Given the description of an element on the screen output the (x, y) to click on. 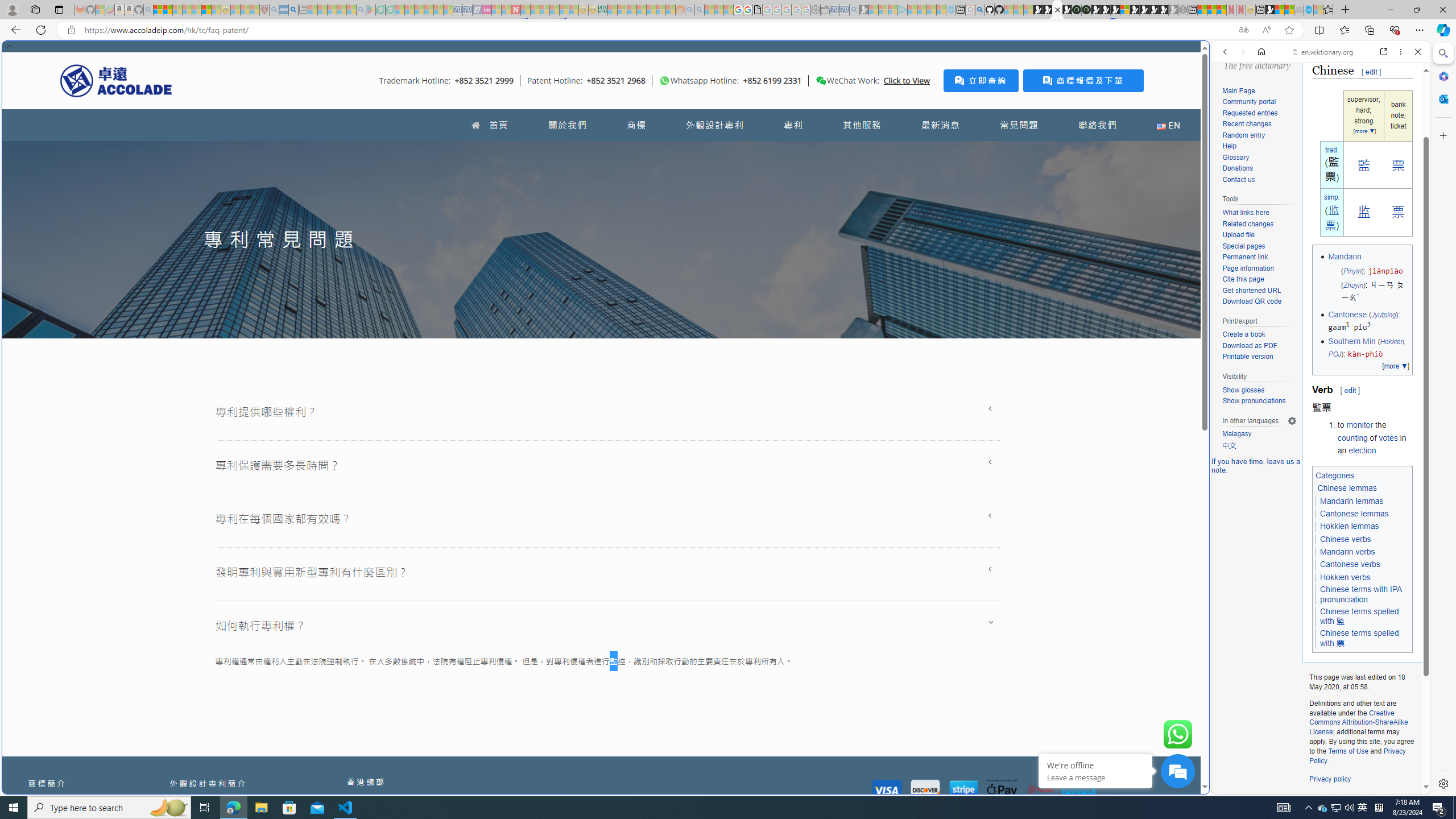
Main Page (1238, 90)
Earth has six continents not seven, radical new study claims (1288, 9)
Mandarin lemmas (1351, 501)
Jyutping (1383, 314)
